Given the description of an element on the screen output the (x, y) to click on. 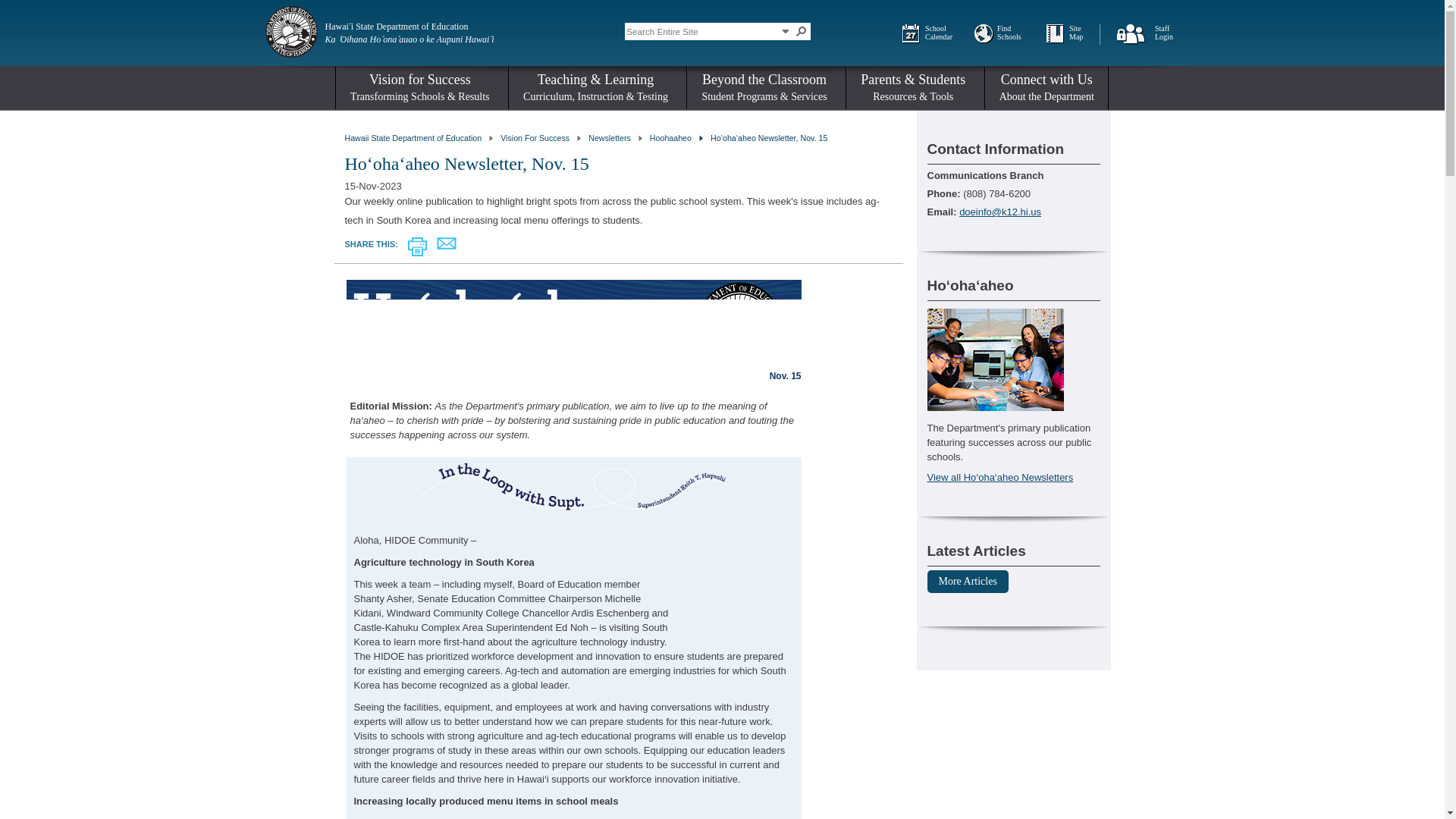
Top level site (412, 137)
Search Entire Site (701, 30)
Navigation (785, 30)
Search (801, 30)
Find Schools (1012, 32)
Search Entire Site (701, 30)
School Calendar (939, 32)
Transforming Schools and Results (534, 137)
Staff Login (1169, 32)
